Given the description of an element on the screen output the (x, y) to click on. 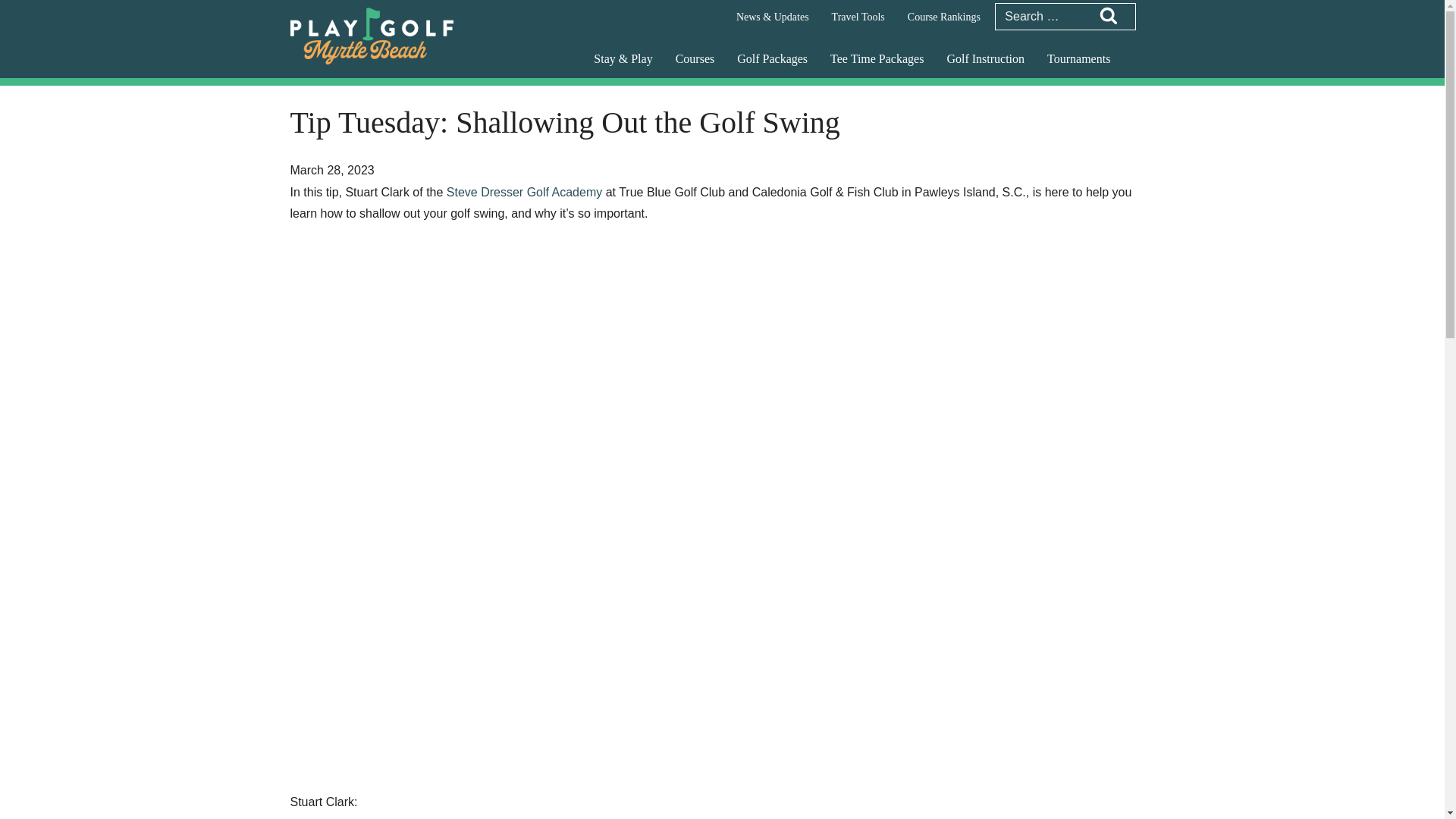
Tee Time Packages (876, 59)
Tournaments (1078, 59)
Golf Instruction (984, 59)
Steve Dresser Golf Academy (524, 192)
Golf Packages (771, 59)
Travel Tools (858, 17)
Golf Packages (771, 59)
Tournaments (1078, 59)
Courses (694, 59)
Course Rankings (943, 17)
